Given the description of an element on the screen output the (x, y) to click on. 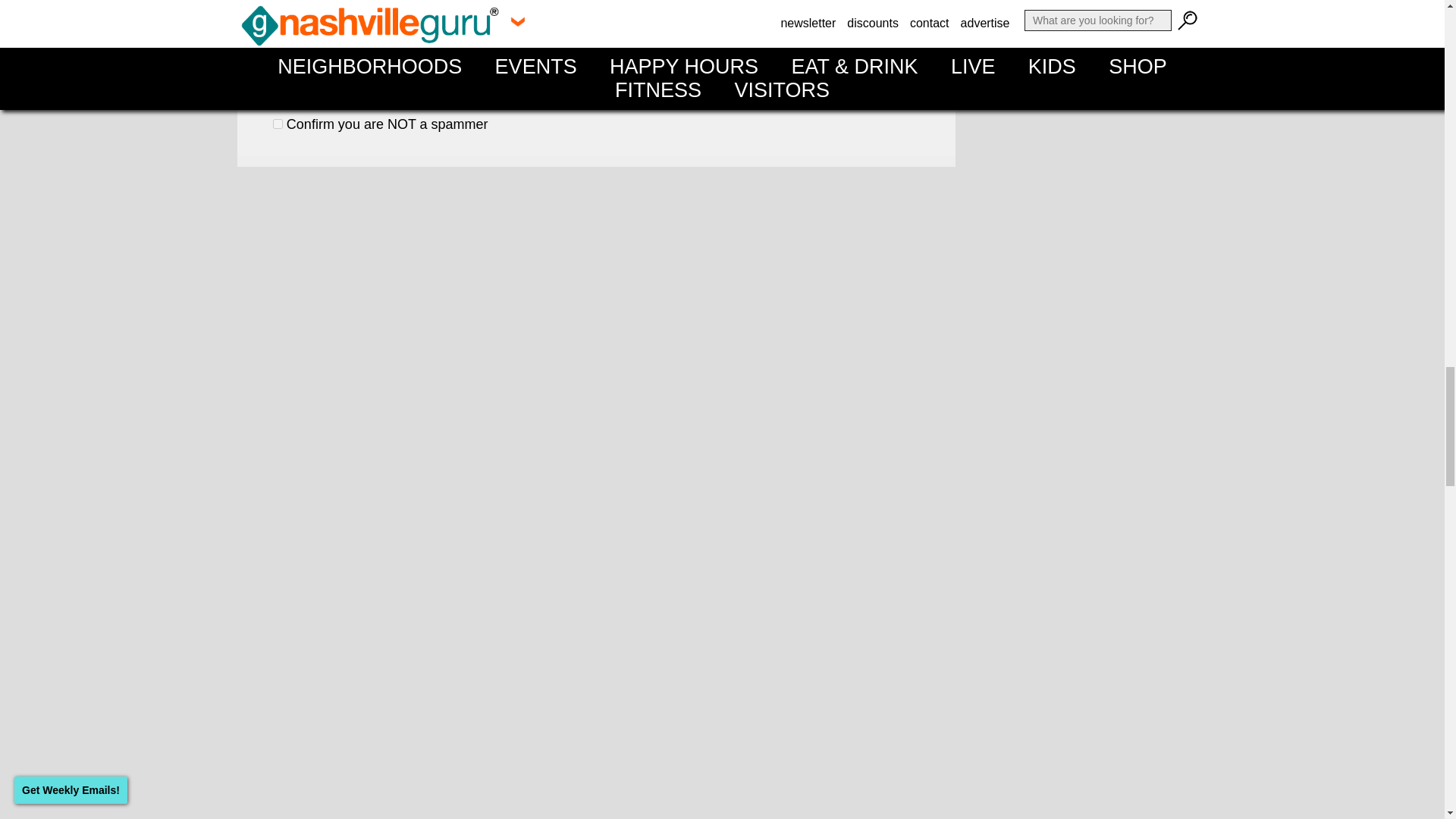
on (277, 123)
3rd party ad content (1093, 606)
3rd party ad content (1093, 401)
Post Comment (434, 91)
3rd party ad content (1093, 767)
3rd party ad content (1093, 196)
3rd party ad content (1093, 43)
